Given the description of an element on the screen output the (x, y) to click on. 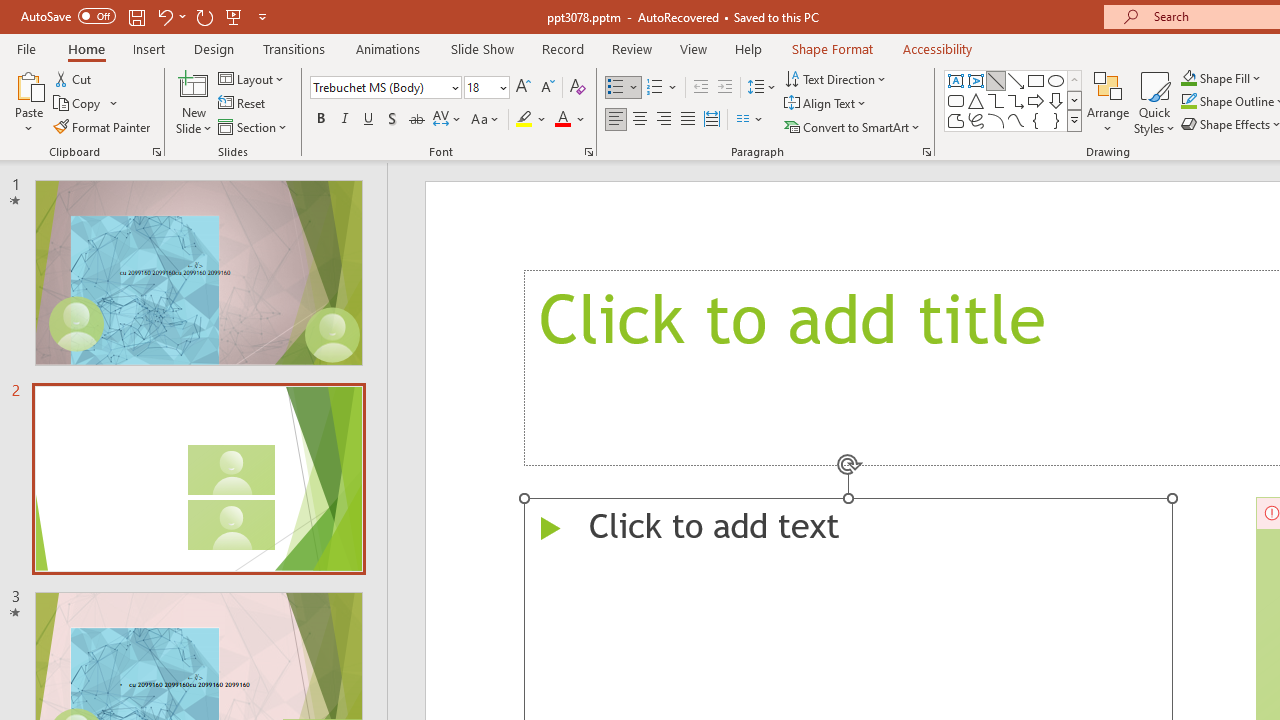
Line Spacing (762, 87)
Columns (750, 119)
Arrow: Right (1035, 100)
Align Right (663, 119)
Right Brace (1055, 120)
Freeform: Shape (955, 120)
Distributed (712, 119)
Change Case (486, 119)
Arrow: Down (1055, 100)
Underline (369, 119)
Text Direction (836, 78)
